Given the description of an element on the screen output the (x, y) to click on. 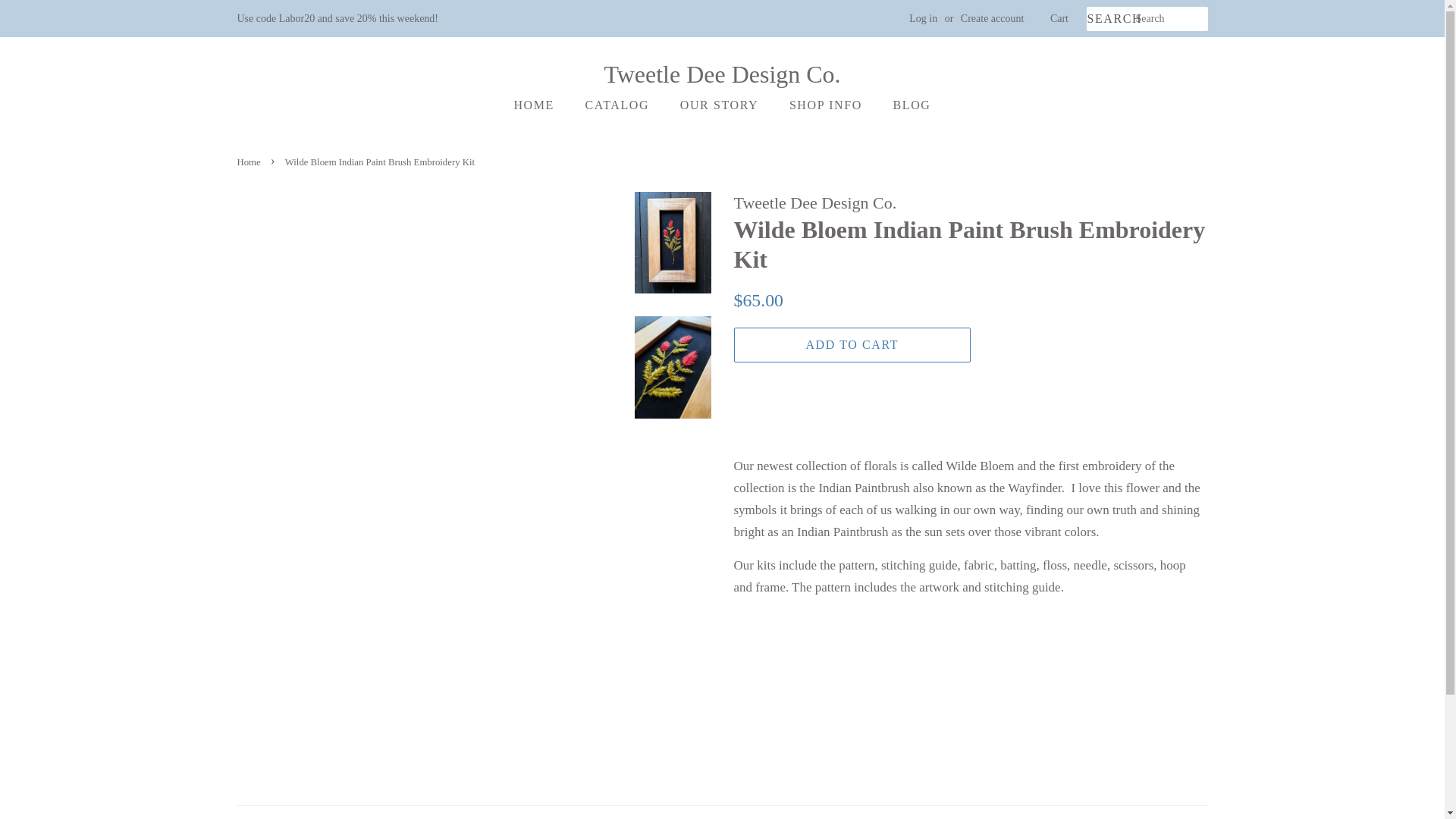
Create account (992, 18)
Home (249, 162)
SHOP INFO (827, 104)
ADD TO CART (852, 345)
Log in (922, 18)
OUR STORY (720, 104)
Cart (1058, 18)
CATALOG (619, 104)
BLOG (906, 104)
HOME (541, 104)
